Given the description of an element on the screen output the (x, y) to click on. 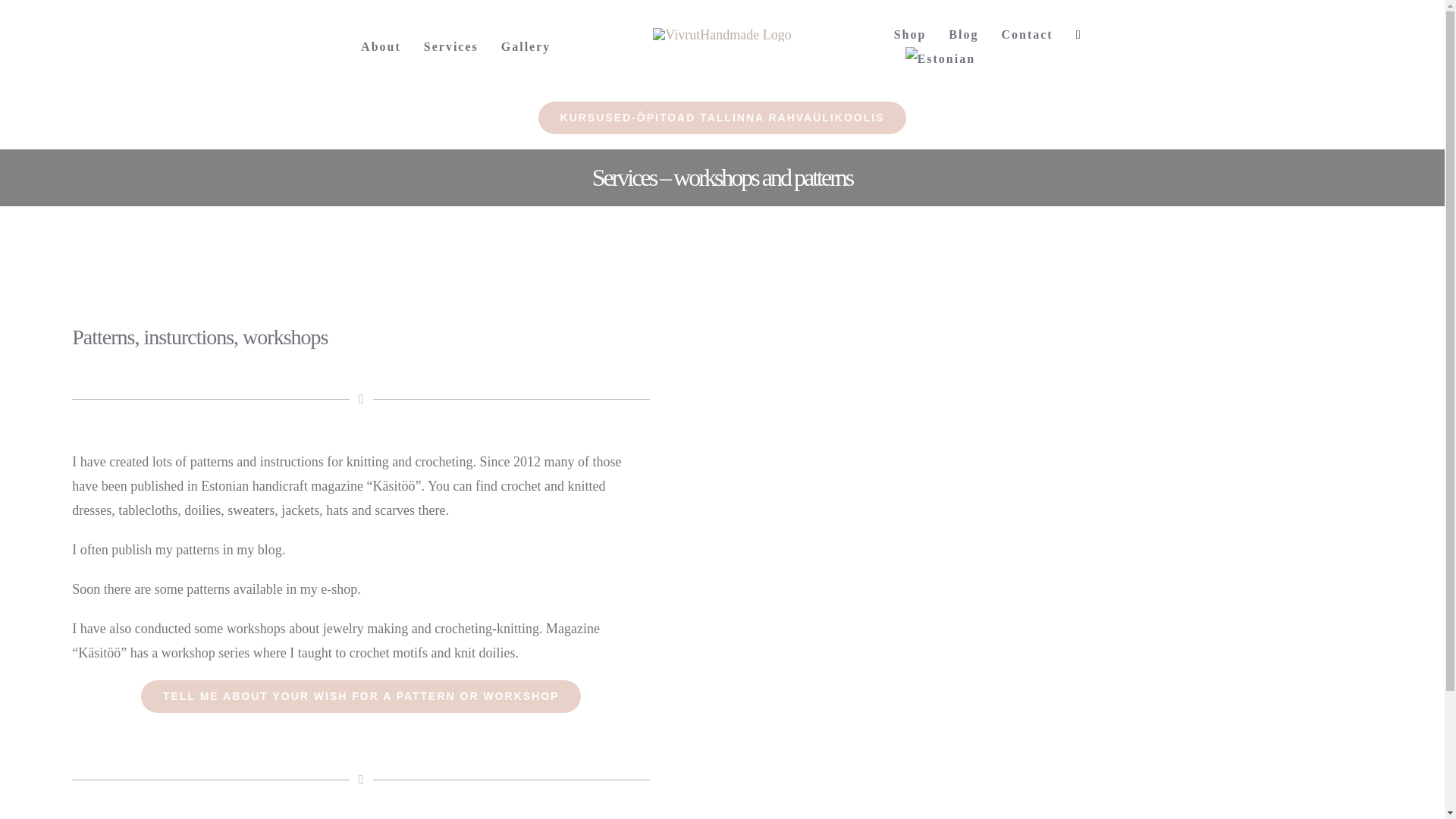
Services (451, 46)
TELL ME ABOUT YOUR WISH FOR A PATTERN OR WORKSHOP (360, 696)
Shop (909, 34)
Gallery (525, 46)
Blog (963, 34)
Contact (1026, 34)
